Given the description of an element on the screen output the (x, y) to click on. 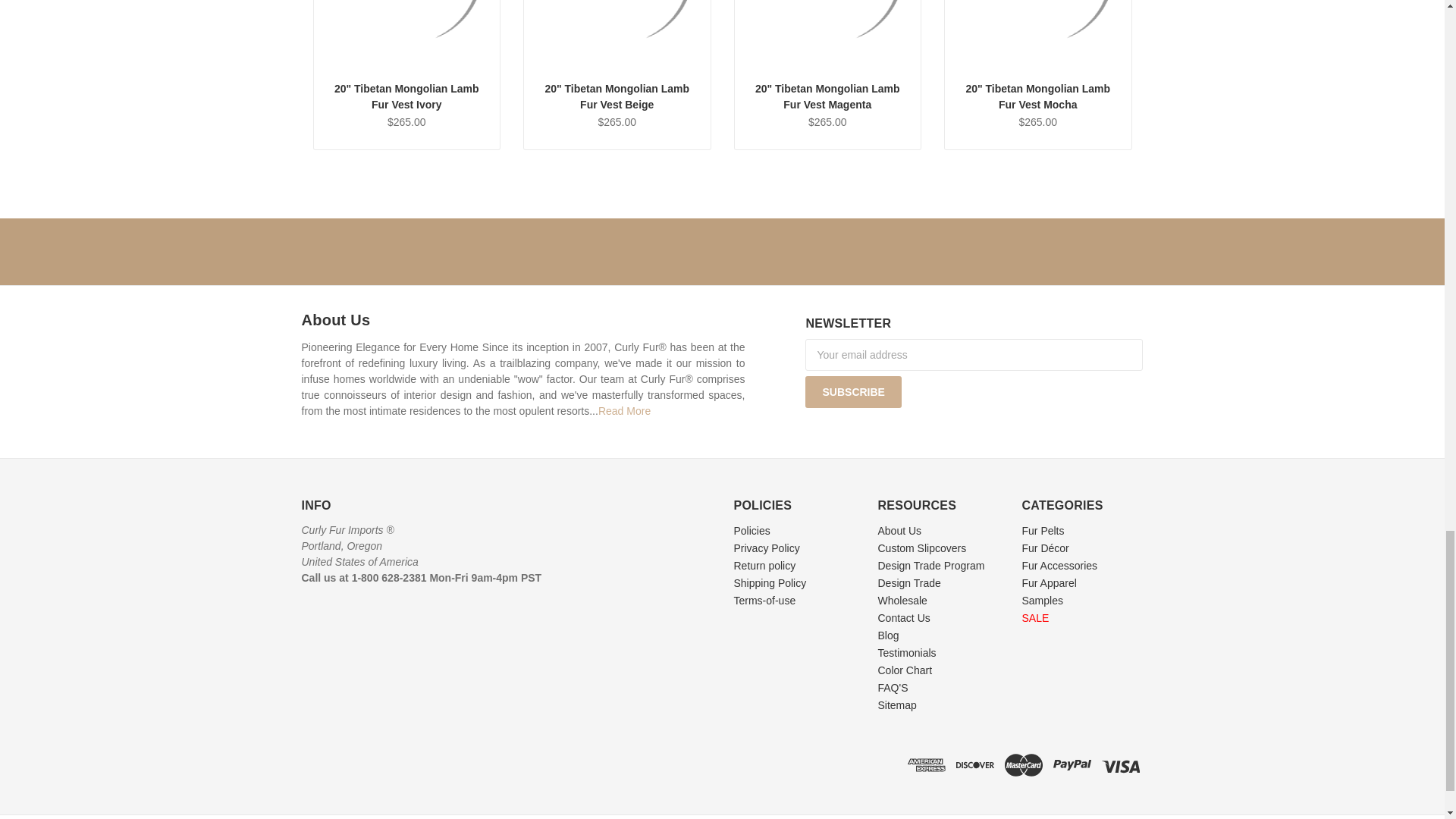
Subscribe (853, 391)
Mongolian Lamb Fur Vest Mocha  (1037, 31)
Mongolian Lamb Fur Vest Magenta  (826, 31)
Mongolian Lamb Fur Vest Beige (617, 31)
Mongolian Lamb Fur Vest Ivory (407, 31)
